Given the description of an element on the screen output the (x, y) to click on. 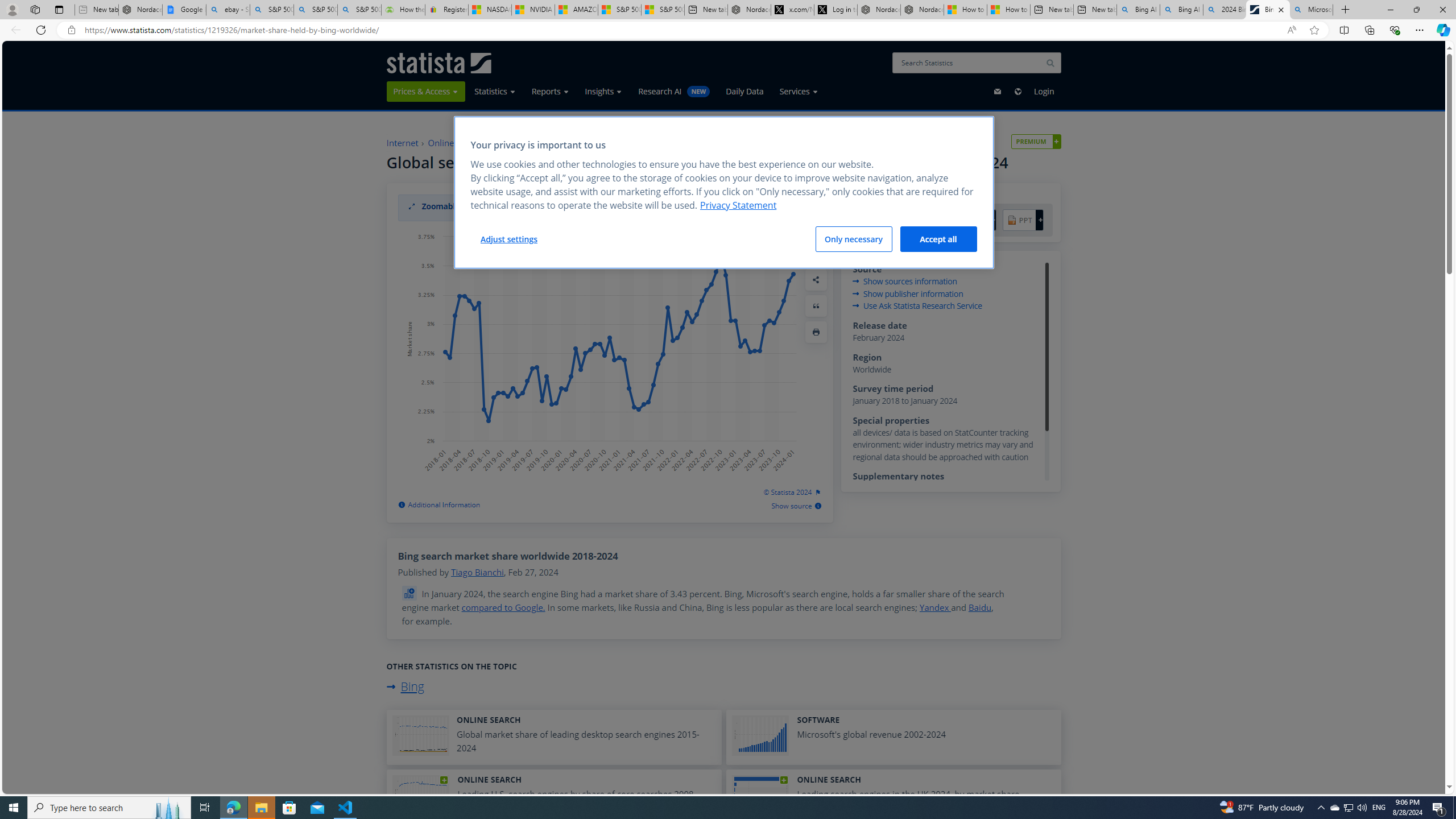
New tab - Sleeping (96, 9)
Address and search bar (680, 29)
Print (816, 332)
Reports (550, 91)
Tiago Bianchi (477, 572)
 Show sources information (904, 281)
Settings (816, 253)
Class: highcharts-root (598, 352)
Daily Data (744, 91)
PDF + (878, 220)
S&P 500 - Search (315, 9)
 Show publisher information (908, 292)
